Given the description of an element on the screen output the (x, y) to click on. 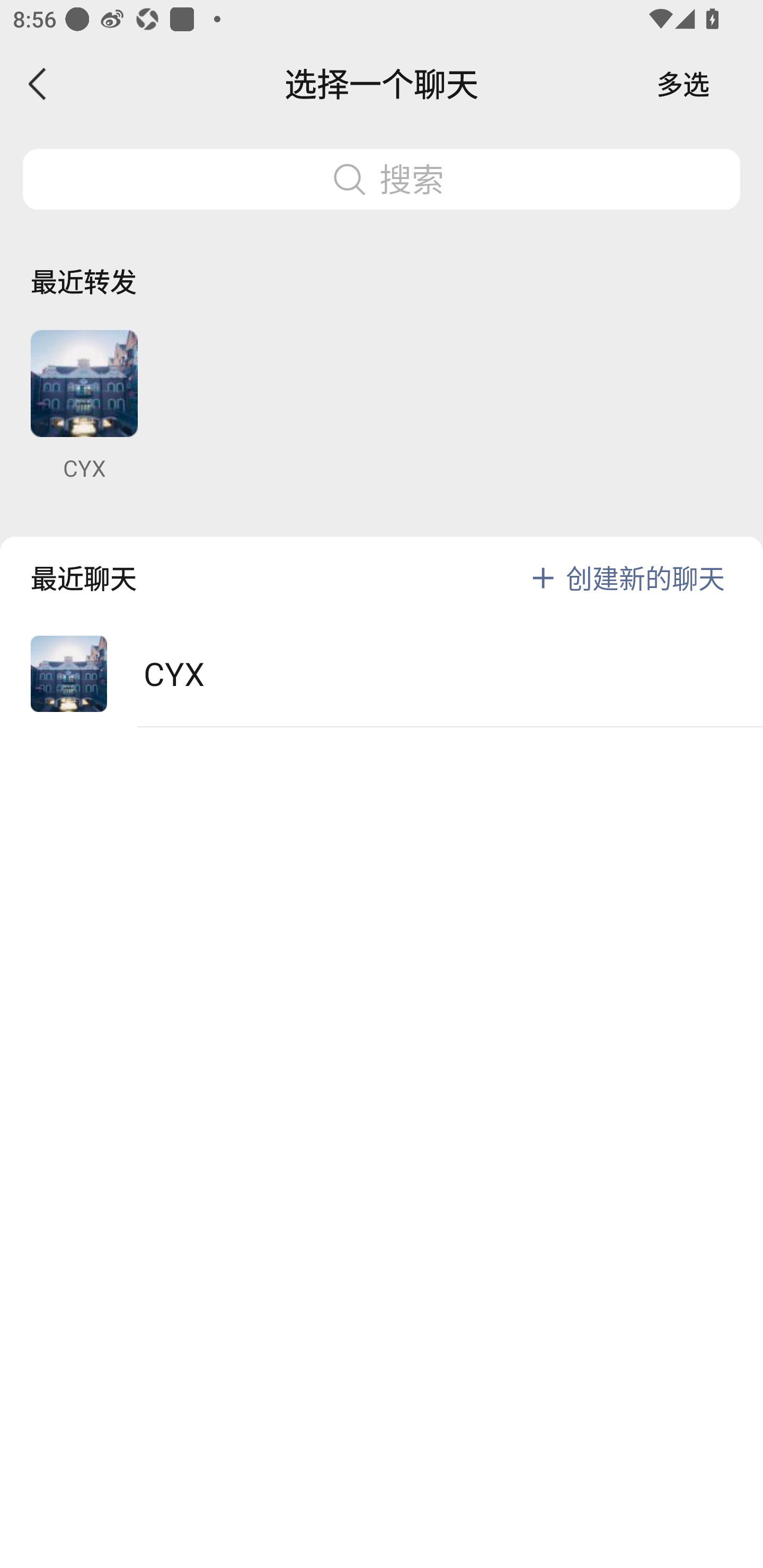
返回 (38, 83)
多选 (683, 83)
CYX (84, 405)
创建新的聊天 (645, 577)
CYX (381, 673)
